Given the description of an element on the screen output the (x, y) to click on. 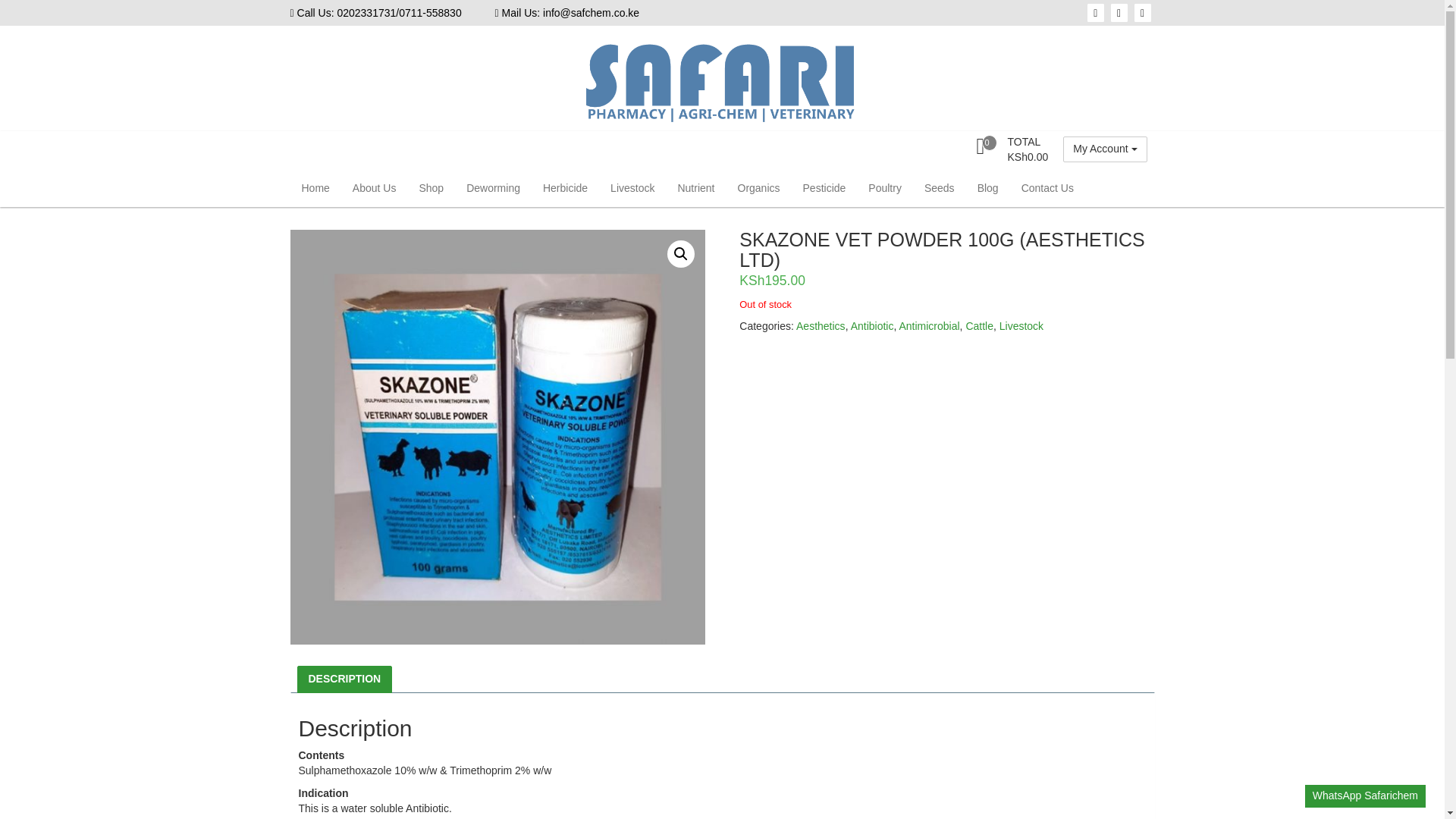
Pesticide (824, 187)
Organics (759, 187)
Contact Us (1047, 187)
Shop (430, 187)
Poultry (884, 187)
Deworming (492, 187)
Home (314, 187)
Cattle (978, 326)
Livestock (1020, 326)
Antibiotic (871, 326)
About Us (373, 187)
Antimicrobial (928, 326)
Livestock (631, 187)
DESCRIPTION (343, 679)
Herbicide (564, 187)
